Given the description of an element on the screen output the (x, y) to click on. 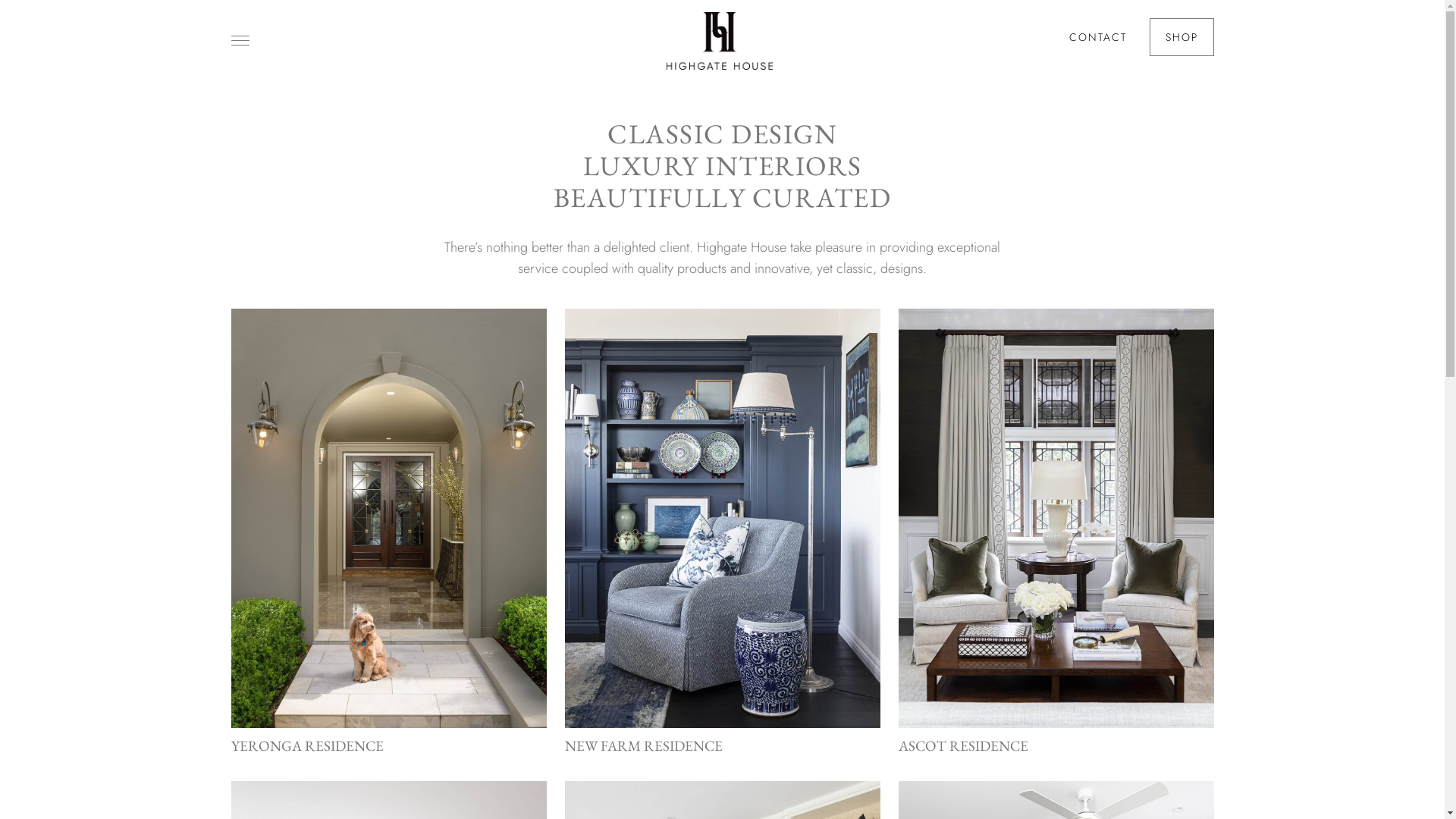
SHOP Element type: text (1181, 37)
CONTACT Element type: text (1097, 36)
ASCOT RESIDENCE Element type: text (1055, 533)
YERONGA RESIDENCE Element type: text (388, 533)
NEW FARM RESIDENCE Element type: text (721, 533)
